Given the description of an element on the screen output the (x, y) to click on. 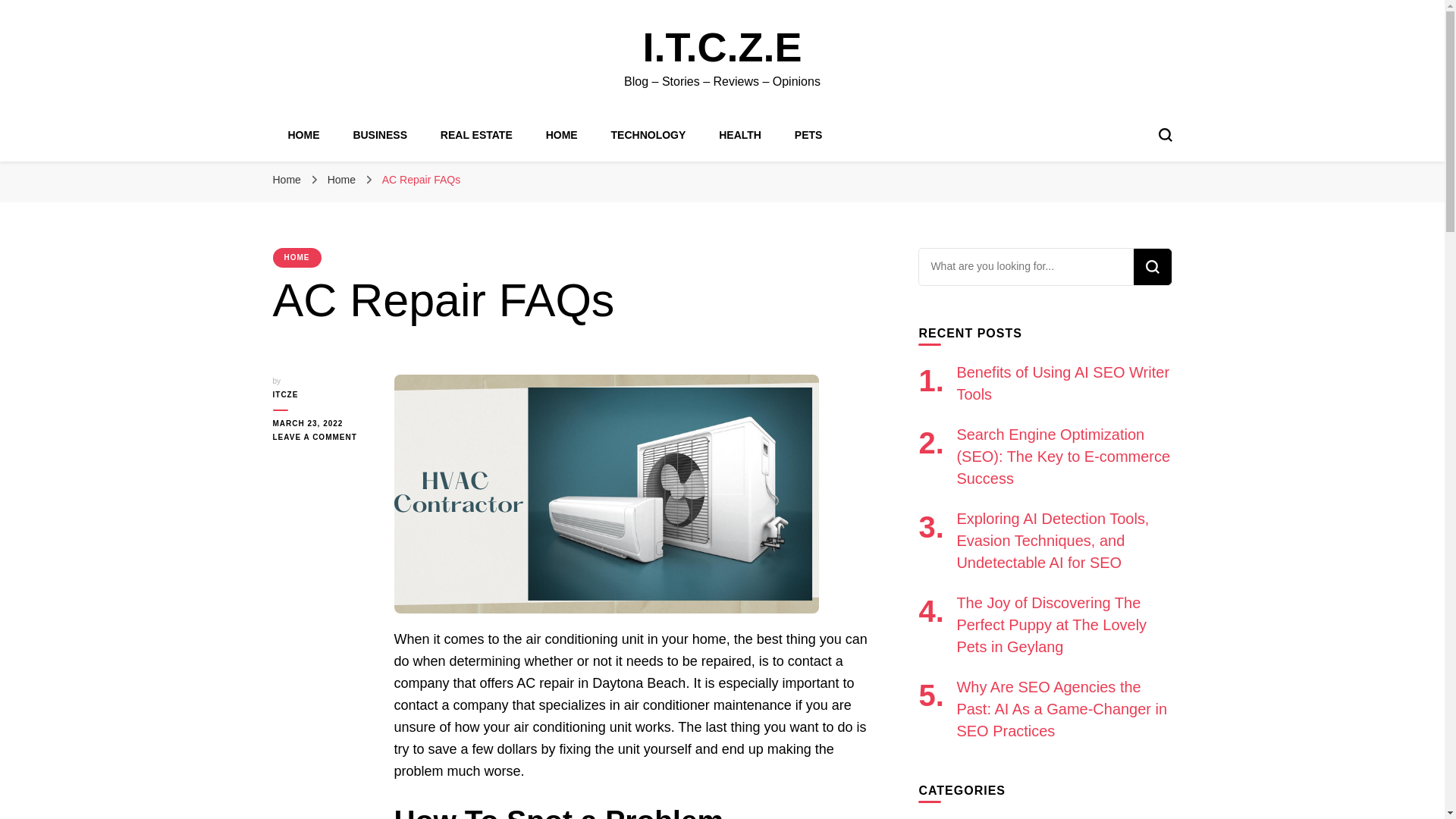
I.T.C.Z.E (722, 46)
ITCZE (322, 395)
Search (1151, 266)
PETS (808, 134)
TECHNOLOGY (648, 134)
Home (287, 179)
Search (1151, 266)
Home (342, 179)
HOME (304, 134)
Search (1151, 266)
AC Repair FAQs (420, 179)
BUSINESS (379, 134)
MARCH 23, 2022 (322, 423)
